Given the description of an element on the screen output the (x, y) to click on. 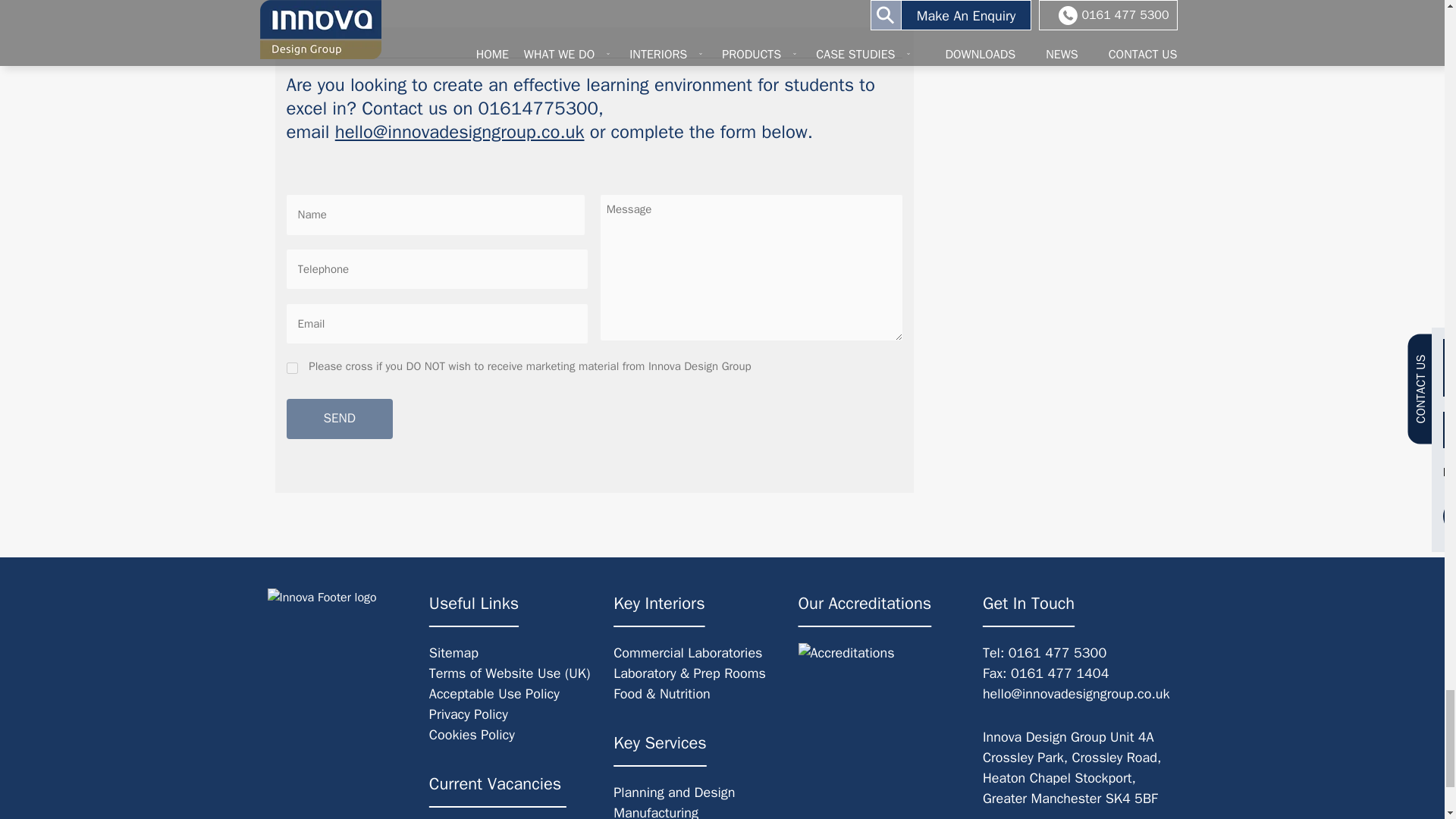
footer-logo (320, 597)
SEND (339, 418)
